Given the description of an element on the screen output the (x, y) to click on. 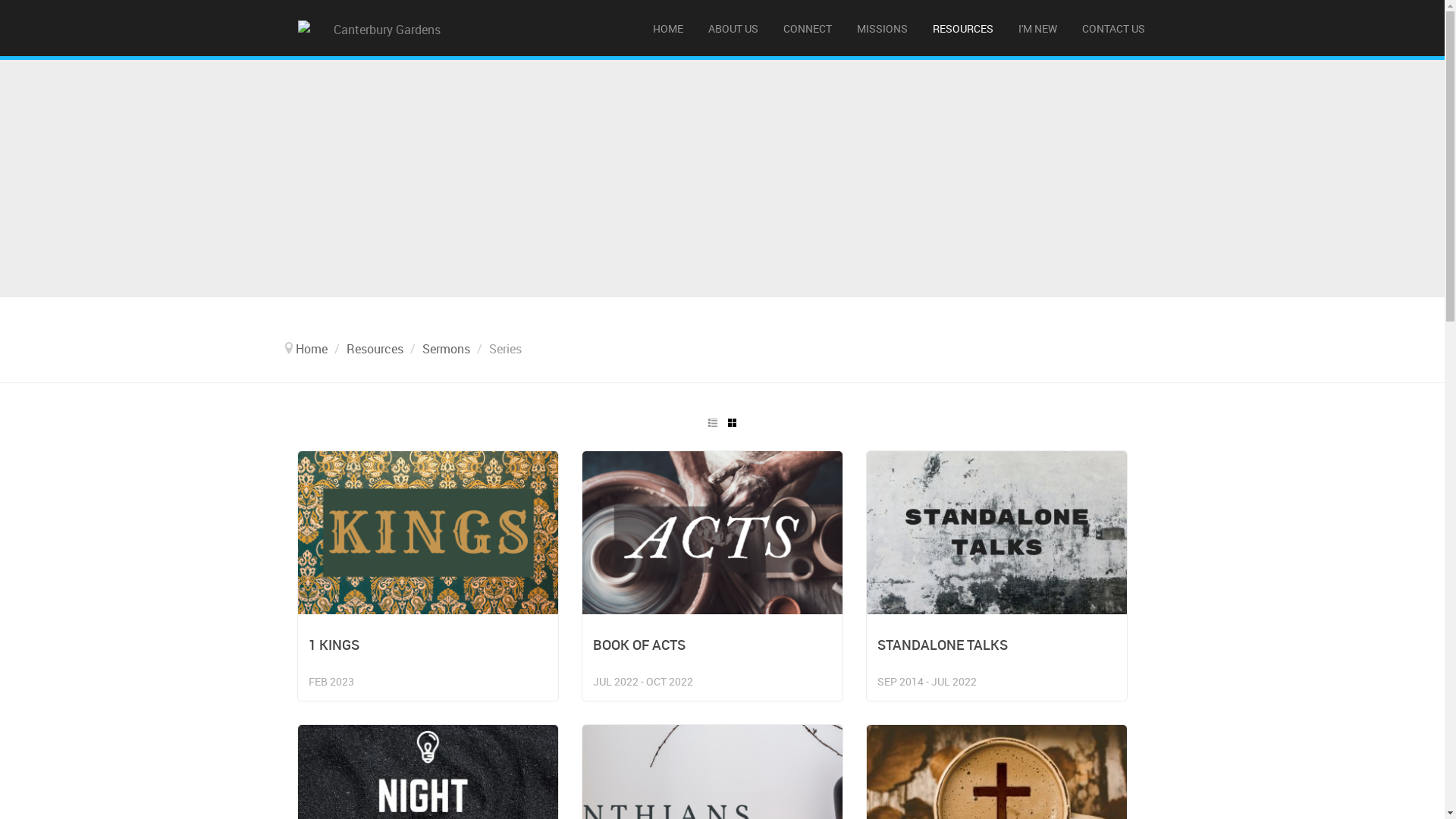
grid Element type: text (731, 422)
Home Element type: text (311, 347)
Canterbury Gardens Element type: hover (380, 27)
BOOK OF ACTS Element type: text (639, 644)
HOME Element type: text (668, 28)
1 KINGS Element type: text (333, 644)
Sermons Element type: text (445, 347)
list Element type: text (712, 422)
STANDALONE TALKS Element type: text (942, 644)
